Given the description of an element on the screen output the (x, y) to click on. 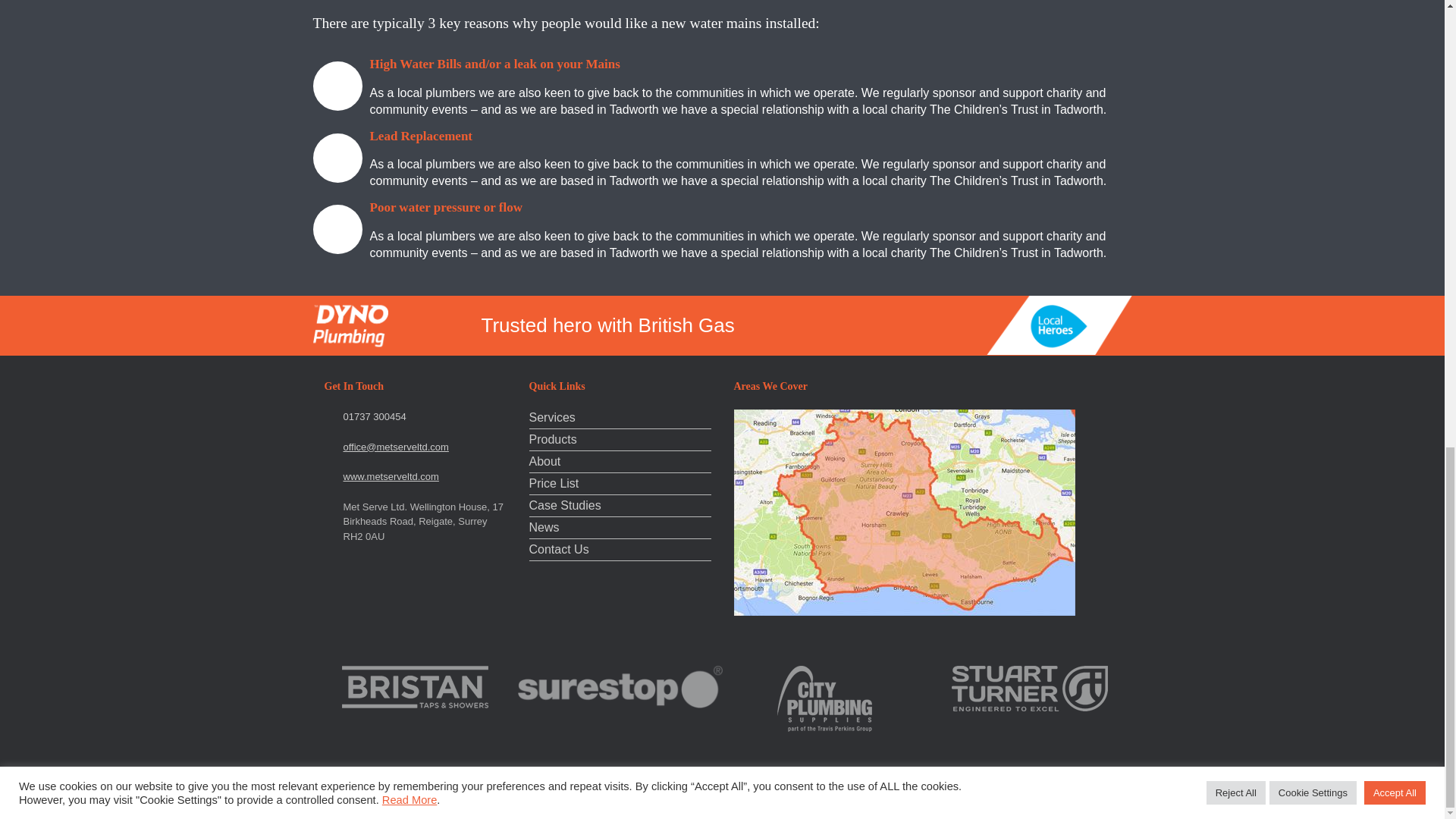
Case Studies (620, 506)
Contact Us (620, 551)
www.metserveltd.com (390, 476)
Services (620, 419)
Products (620, 441)
News (620, 528)
About (620, 463)
01737 300454 (374, 416)
Price List (620, 485)
